Given the description of an element on the screen output the (x, y) to click on. 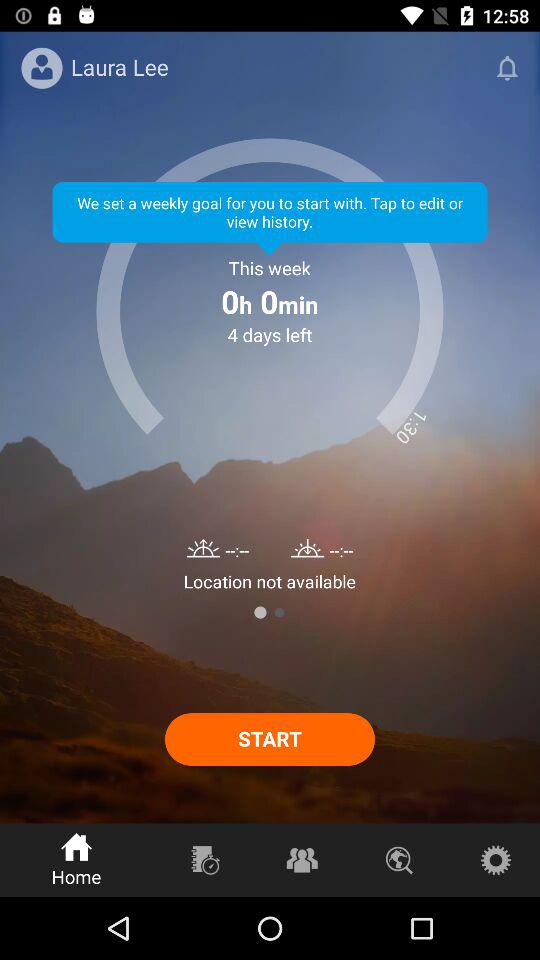
select item below the location not available item (279, 612)
